Given the description of an element on the screen output the (x, y) to click on. 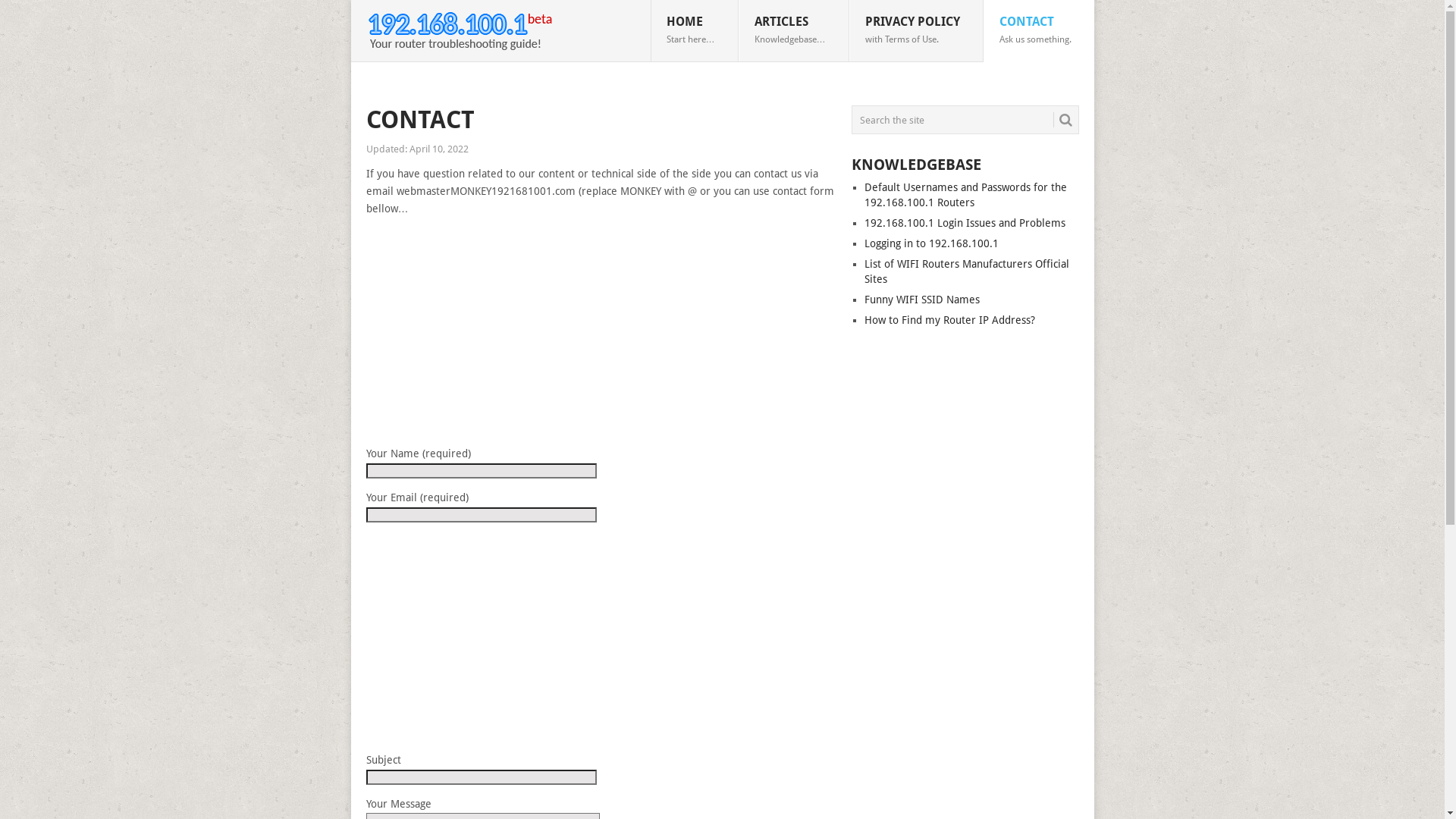
Advertisement Element type: hover (601, 332)
List of WIFI Routers Manufacturers Official Sites Element type: text (966, 271)
How to Find my Router IP Address? Element type: text (949, 319)
PRIVACY POLICY
with Terms of Use. Element type: text (916, 31)
Advertisement Element type: hover (601, 639)
CONTACT
Ask us something. Element type: text (1037, 31)
Logging in to 192.168.100.1 Element type: text (931, 243)
Funny WIFI SSID Names Element type: text (921, 299)
192.168.100.1 Login Issues and Problems Element type: text (964, 222)
Advertisement Element type: hover (964, 577)
